Given the description of an element on the screen output the (x, y) to click on. 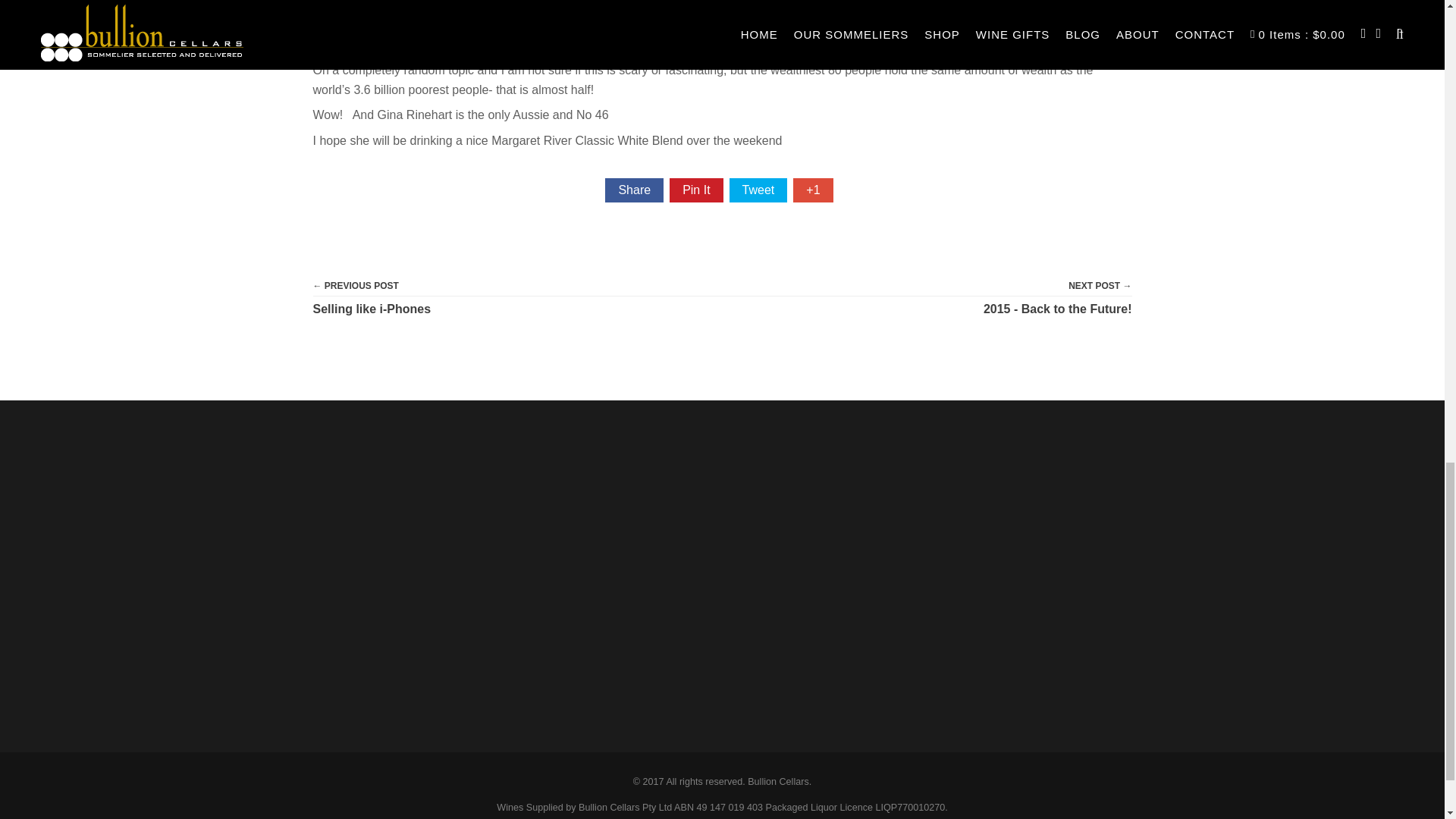
Pin It (695, 190)
Share (633, 190)
Tweet (758, 190)
